Given the description of an element on the screen output the (x, y) to click on. 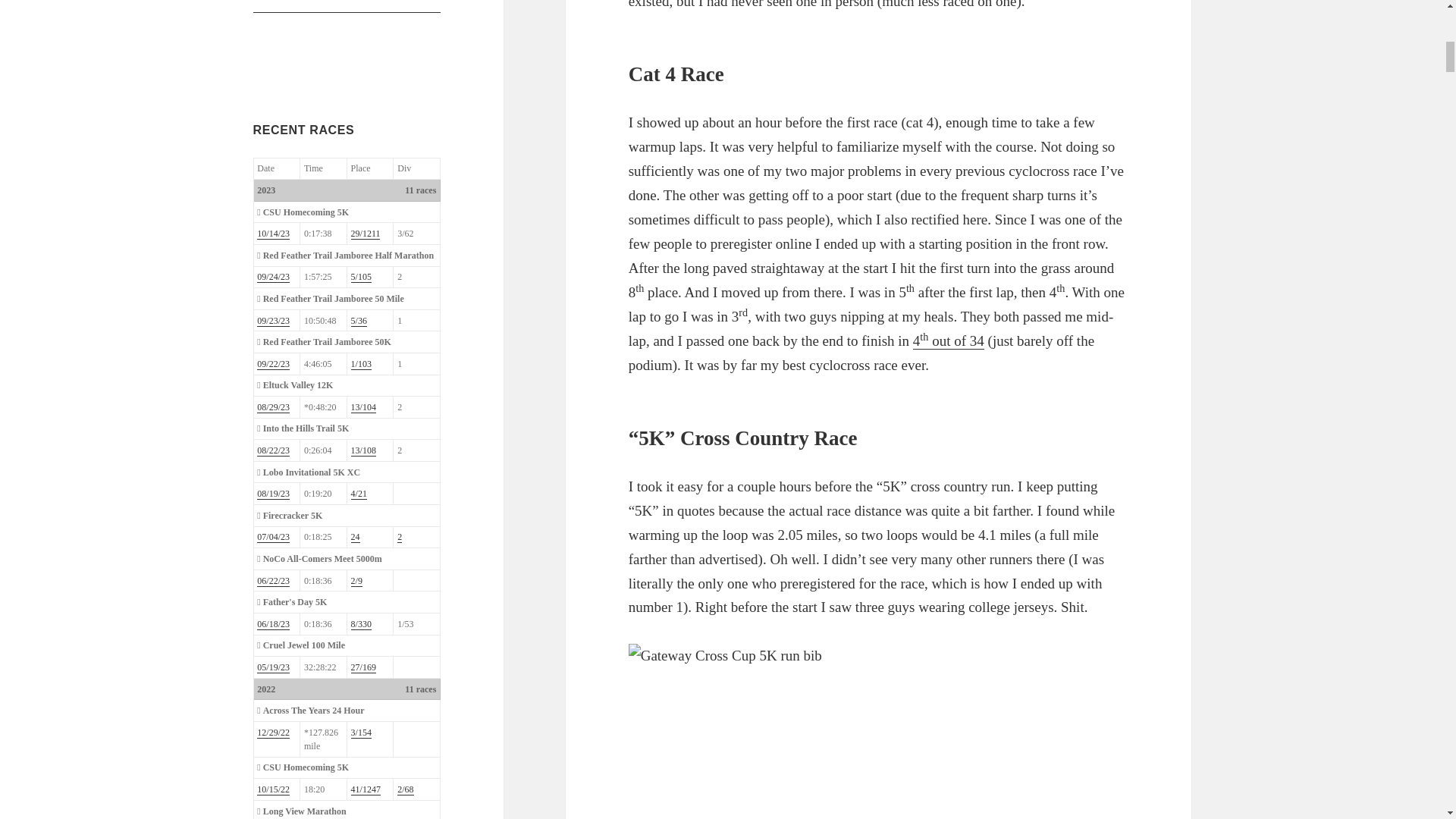
Gateway Cross Cup 5K run bib (817, 731)
2 (399, 536)
View 'Gateway Cross Cup 5K run bib' on Flickr.com (878, 731)
24 (354, 536)
